Given the description of an element on the screen output the (x, y) to click on. 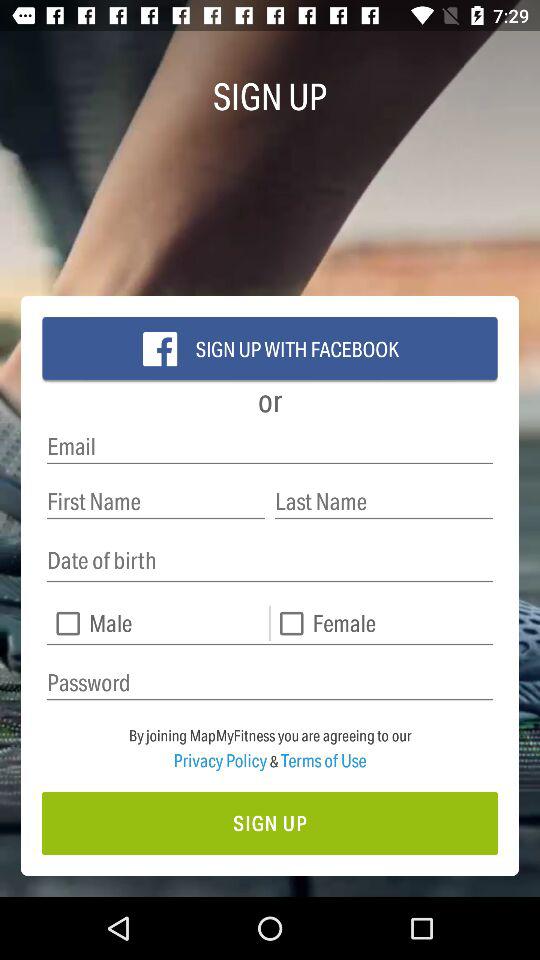
go to last name option (384, 501)
